Given the description of an element on the screen output the (x, y) to click on. 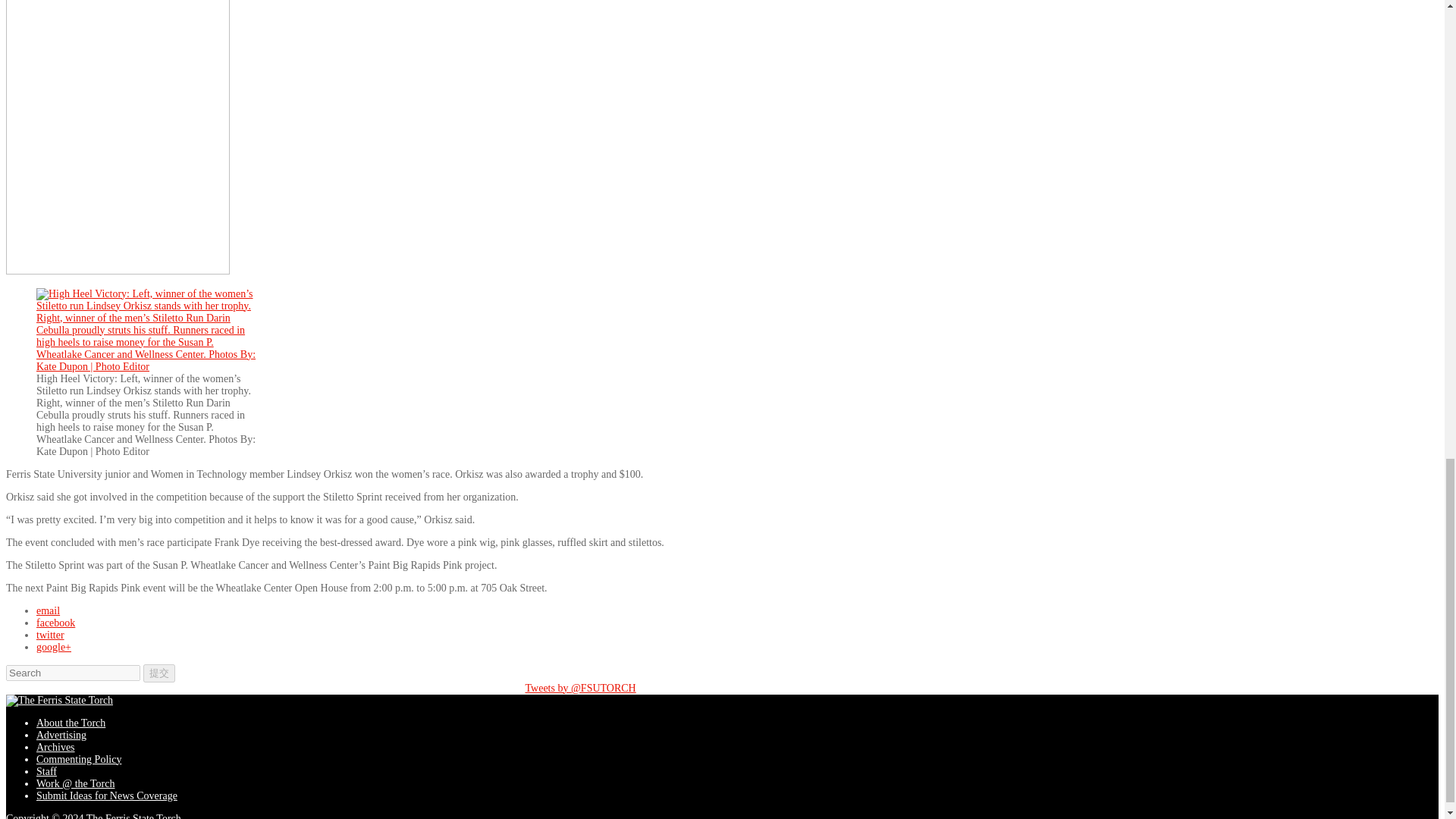
The Ferris State Torch (59, 700)
